Given the description of an element on the screen output the (x, y) to click on. 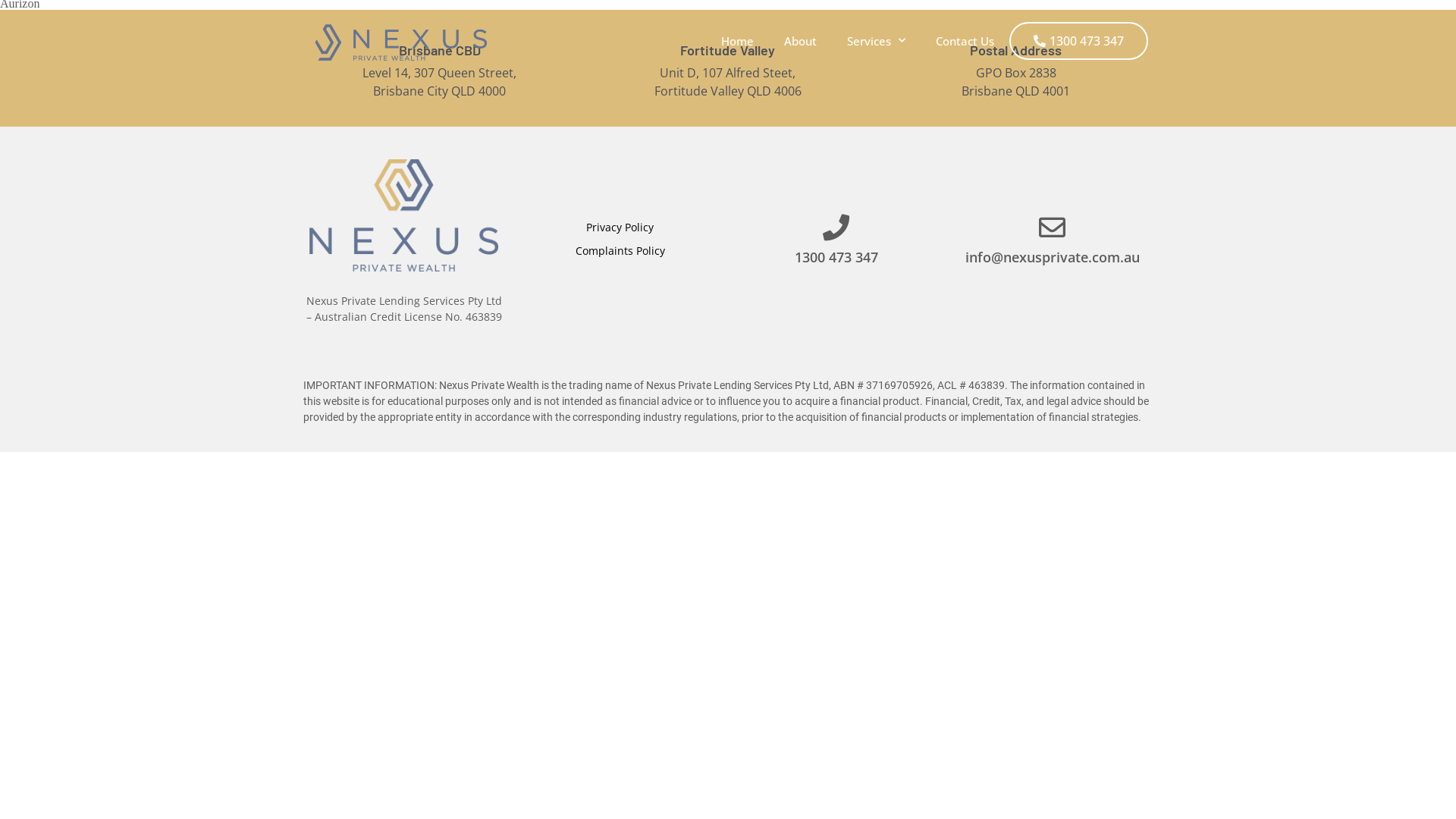
Services Element type: text (875, 40)
Privacy Policy Element type: text (619, 227)
About Element type: text (799, 40)
1300 473 347 Element type: text (1078, 40)
Complaints Policy Element type: text (619, 250)
Fortitude Valley Element type: text (727, 49)
1300 473 347 Element type: text (836, 256)
Brisbane CBD Element type: text (439, 49)
Postal Address Element type: text (1015, 49)
Contact Us Element type: text (964, 40)
Home Element type: text (737, 40)
info@nexusprivate.com.au Element type: text (1051, 256)
